Given the description of an element on the screen output the (x, y) to click on. 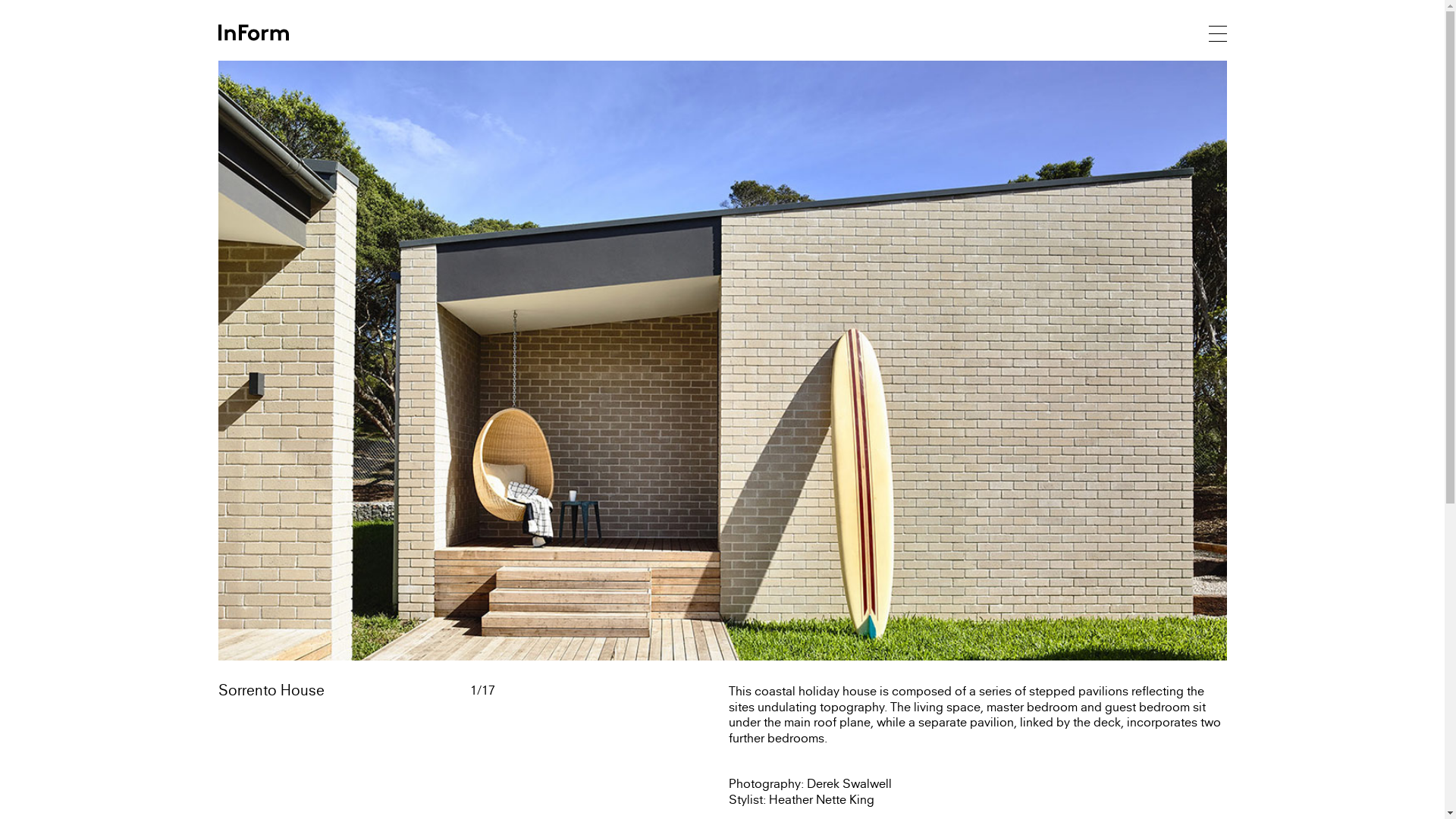
Main Navigation Element type: text (1217, 32)
Submit Element type: text (838, 450)
Previous Slide Element type: text (470, 360)
Next Slide Element type: text (973, 360)
